Given the description of an element on the screen output the (x, y) to click on. 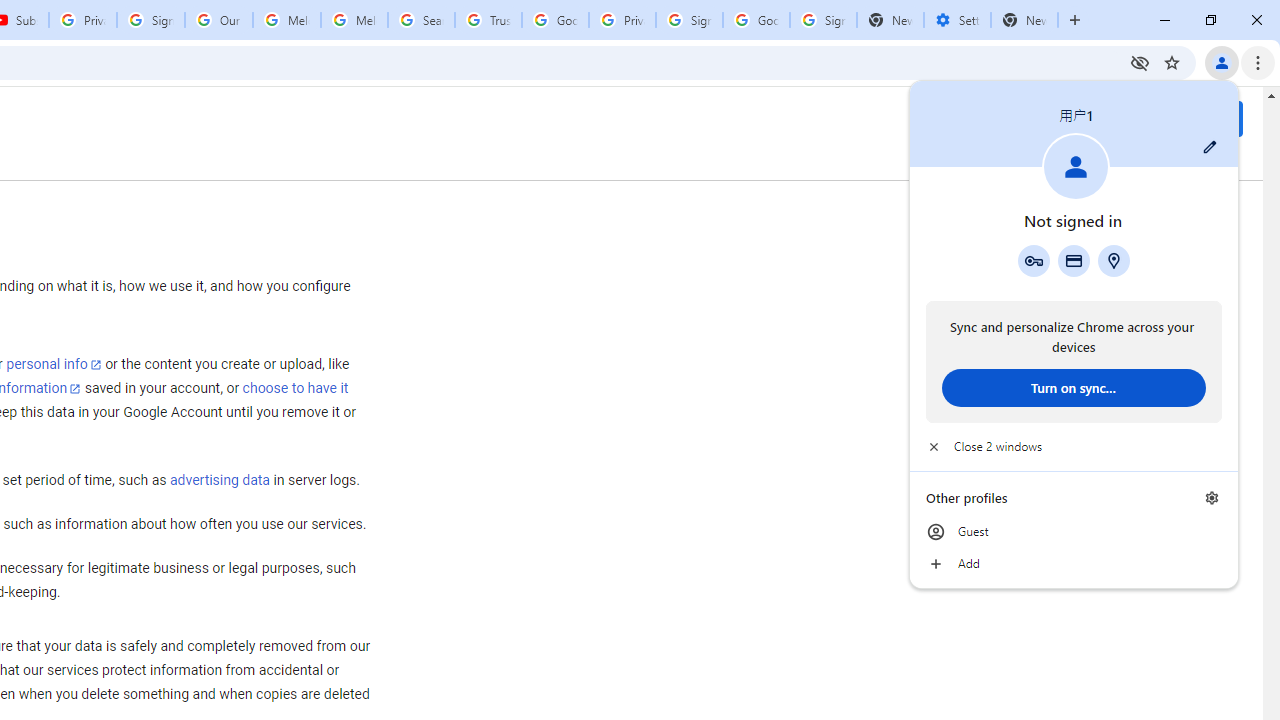
Search our Doodle Library Collection - Google Doodles (420, 20)
